Given the description of an element on the screen output the (x, y) to click on. 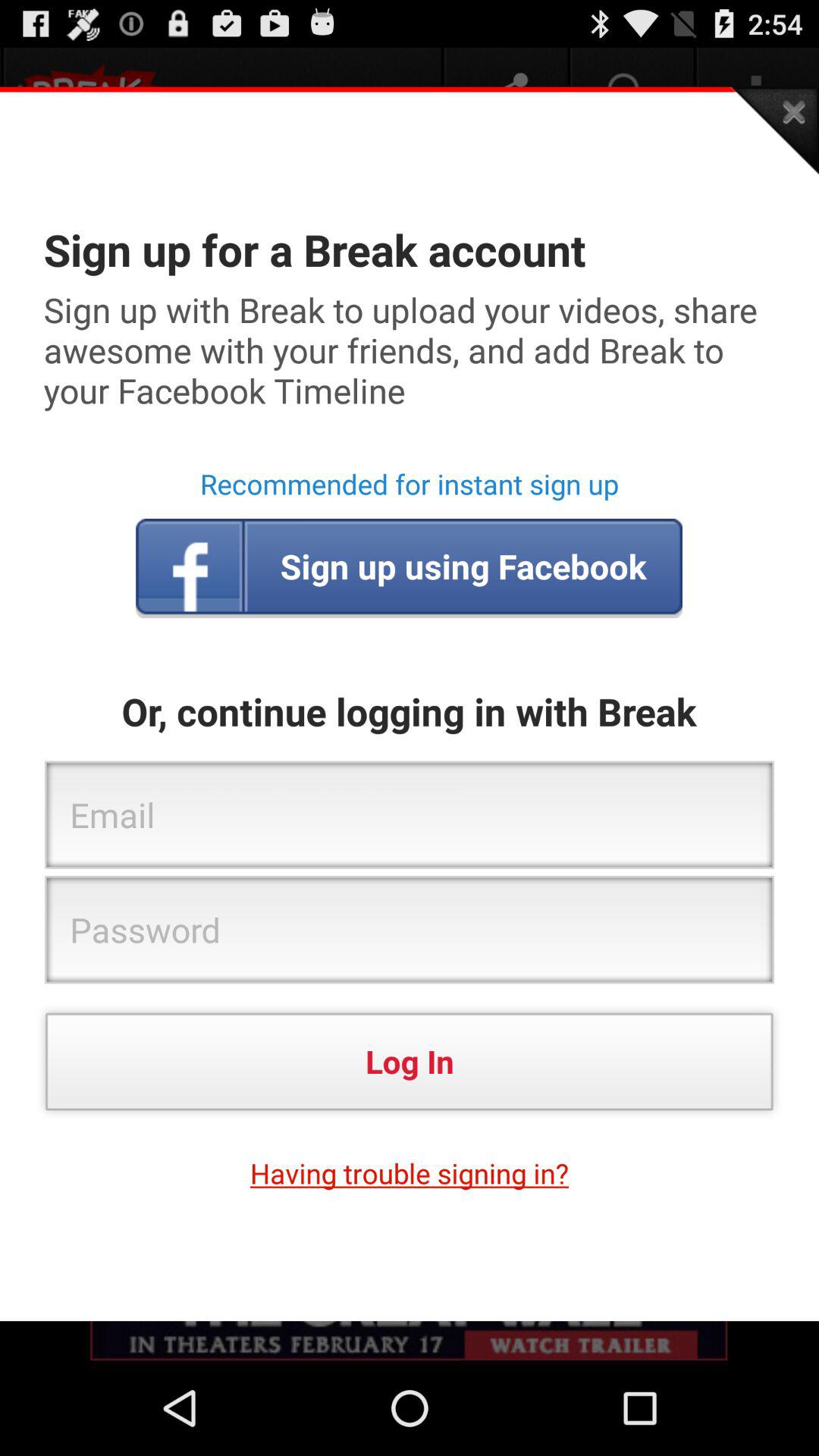
tap the app above sign up for (774, 130)
